Given the description of an element on the screen output the (x, y) to click on. 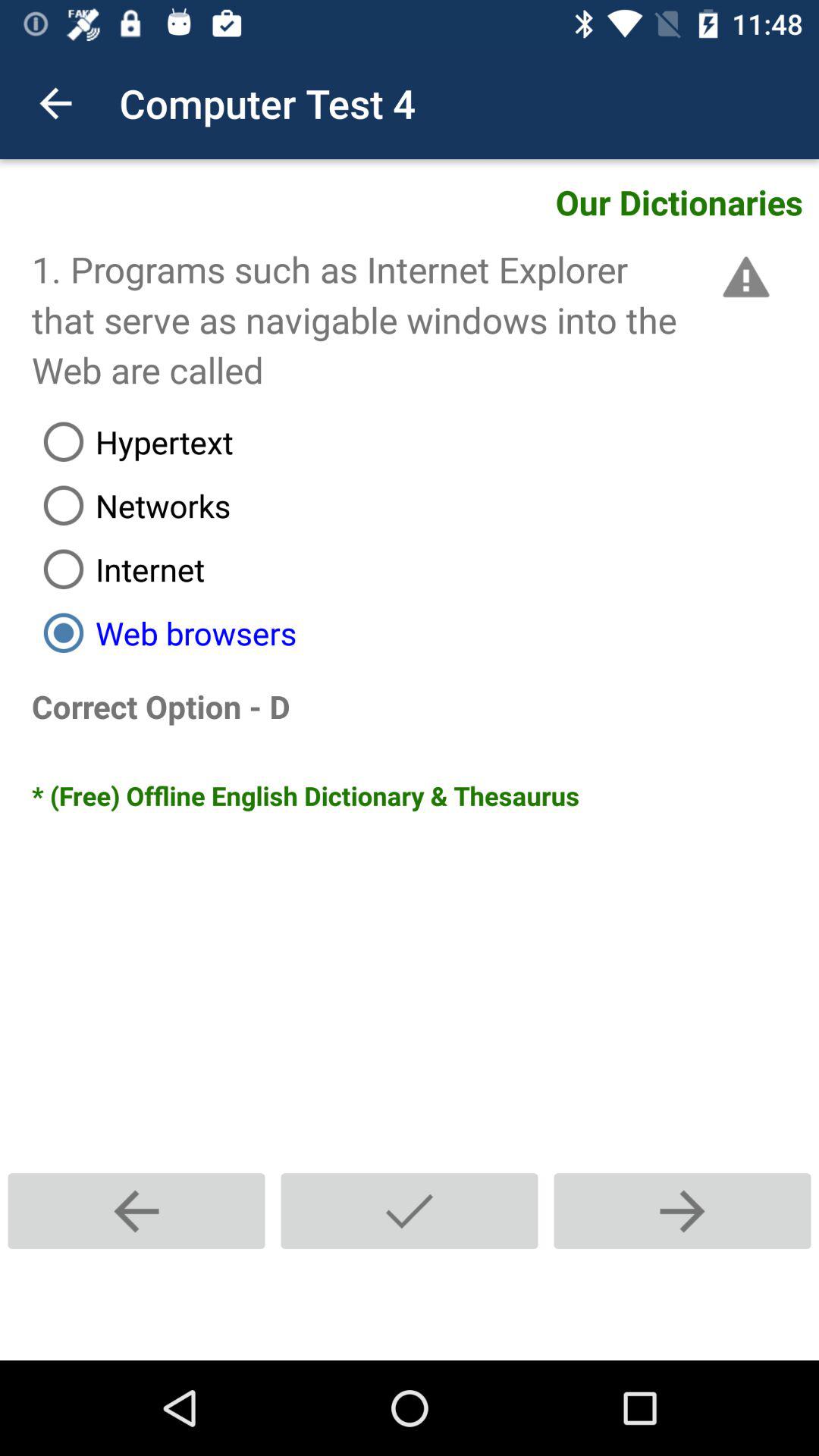
swipe to hypertext item (425, 441)
